Given the description of an element on the screen output the (x, y) to click on. 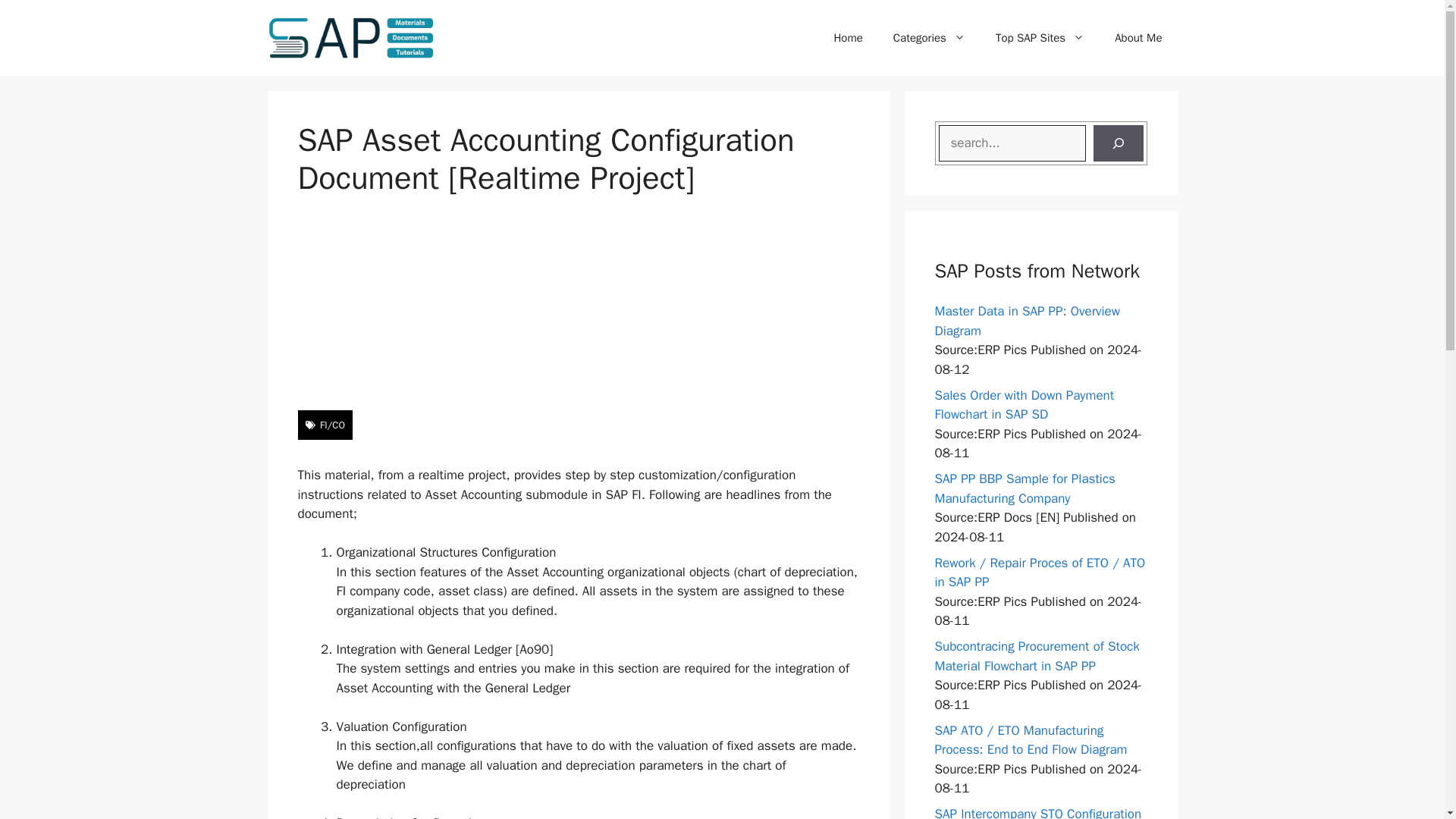
Sales Order with Down Payment Flowchart in SAP SD (1023, 405)
Home (847, 37)
Categories (928, 37)
About Me (1137, 37)
Top SAP Sites (1039, 37)
Master Data in SAP PP: Overview Diagram (1026, 321)
Advertisement (578, 304)
